Given the description of an element on the screen output the (x, y) to click on. 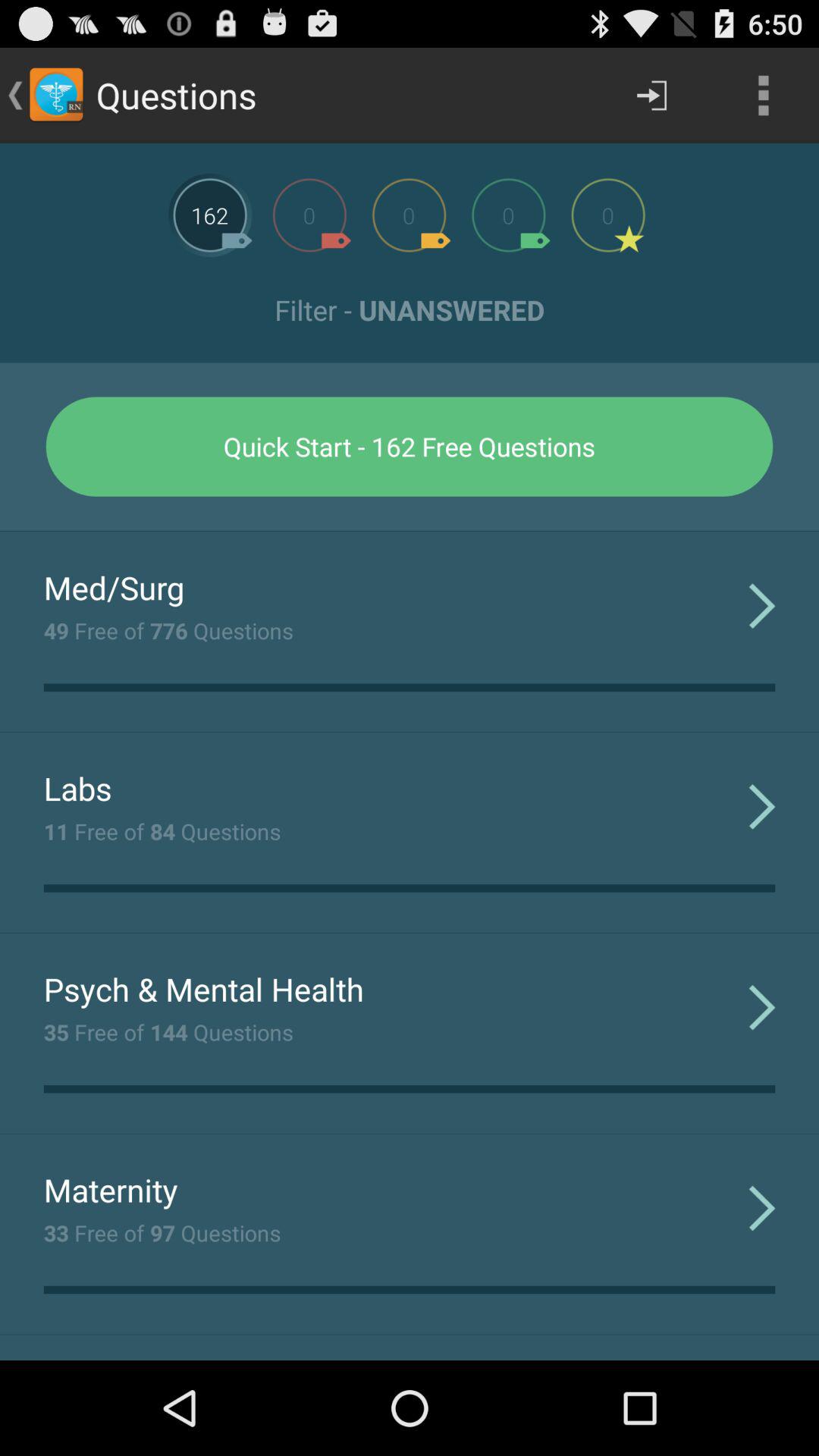
select type (608, 215)
